Given the description of an element on the screen output the (x, y) to click on. 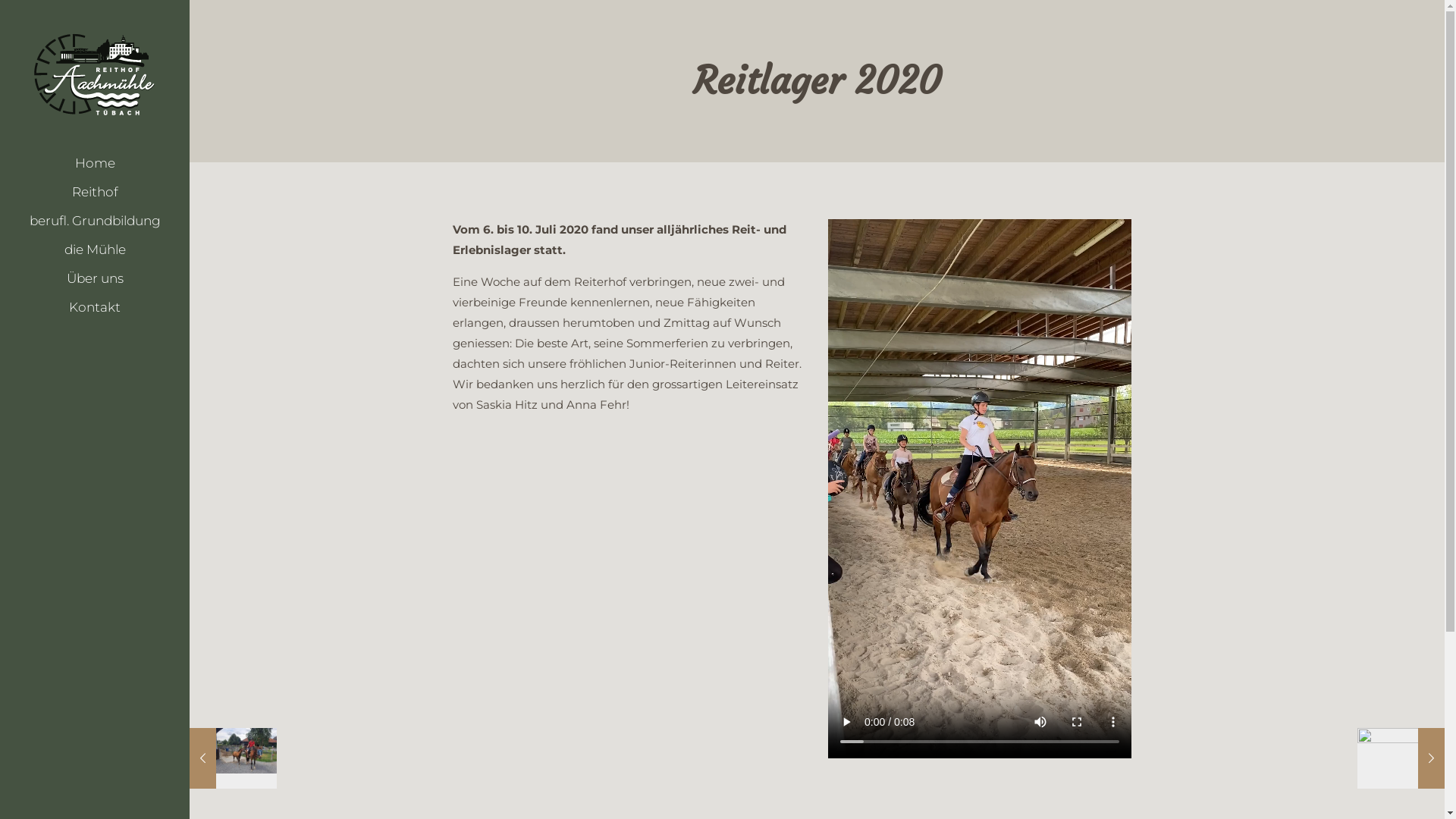
Kontakt Element type: text (94, 306)
Home Element type: text (94, 162)
berufl. Grundbildung Element type: text (94, 220)
Aachmuehle Element type: hover (94, 74)
Reithof Element type: text (94, 191)
